Given the description of an element on the screen output the (x, y) to click on. 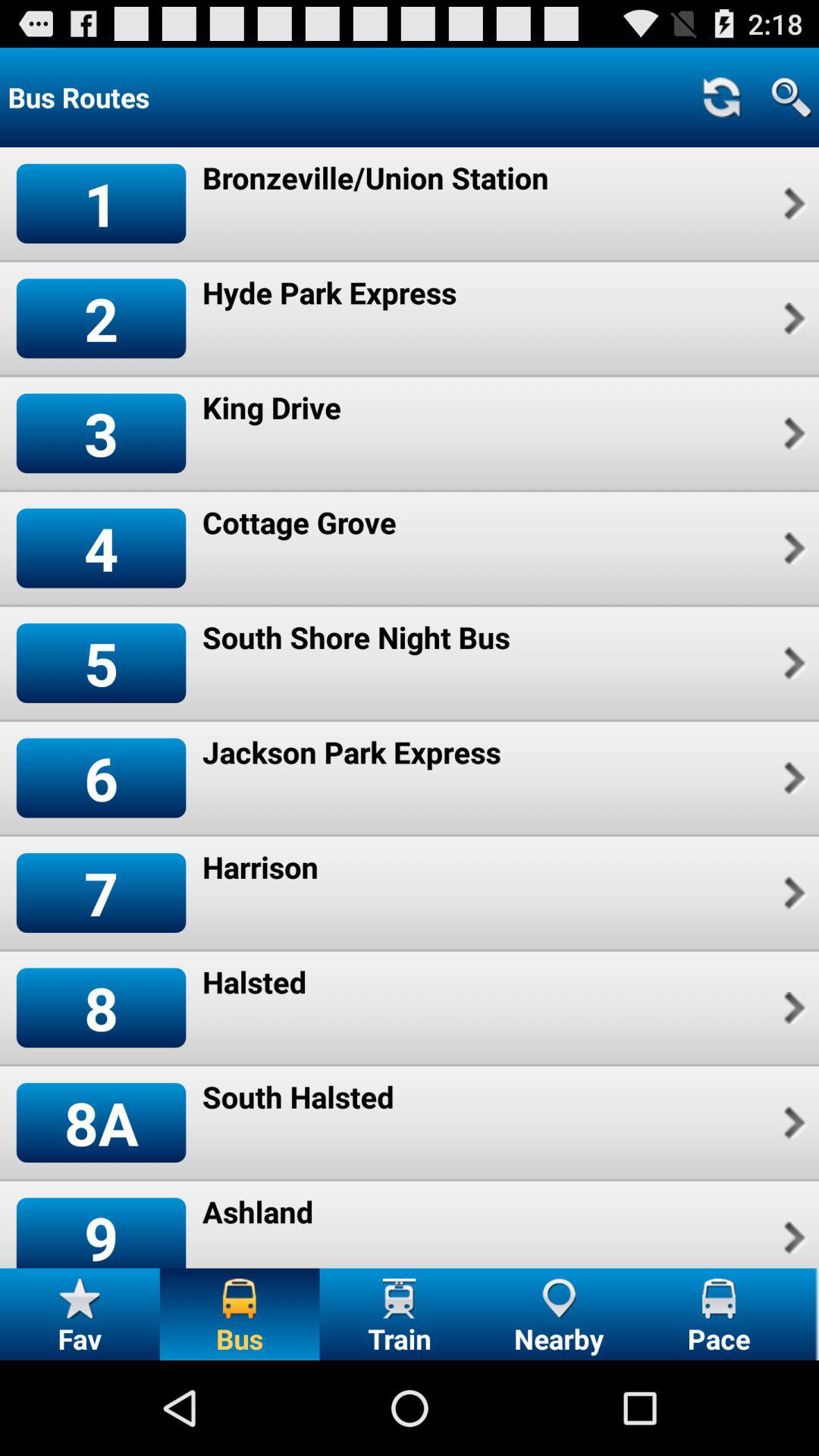
turn on the app to the left of jackson park express item (100, 777)
